Given the description of an element on the screen output the (x, y) to click on. 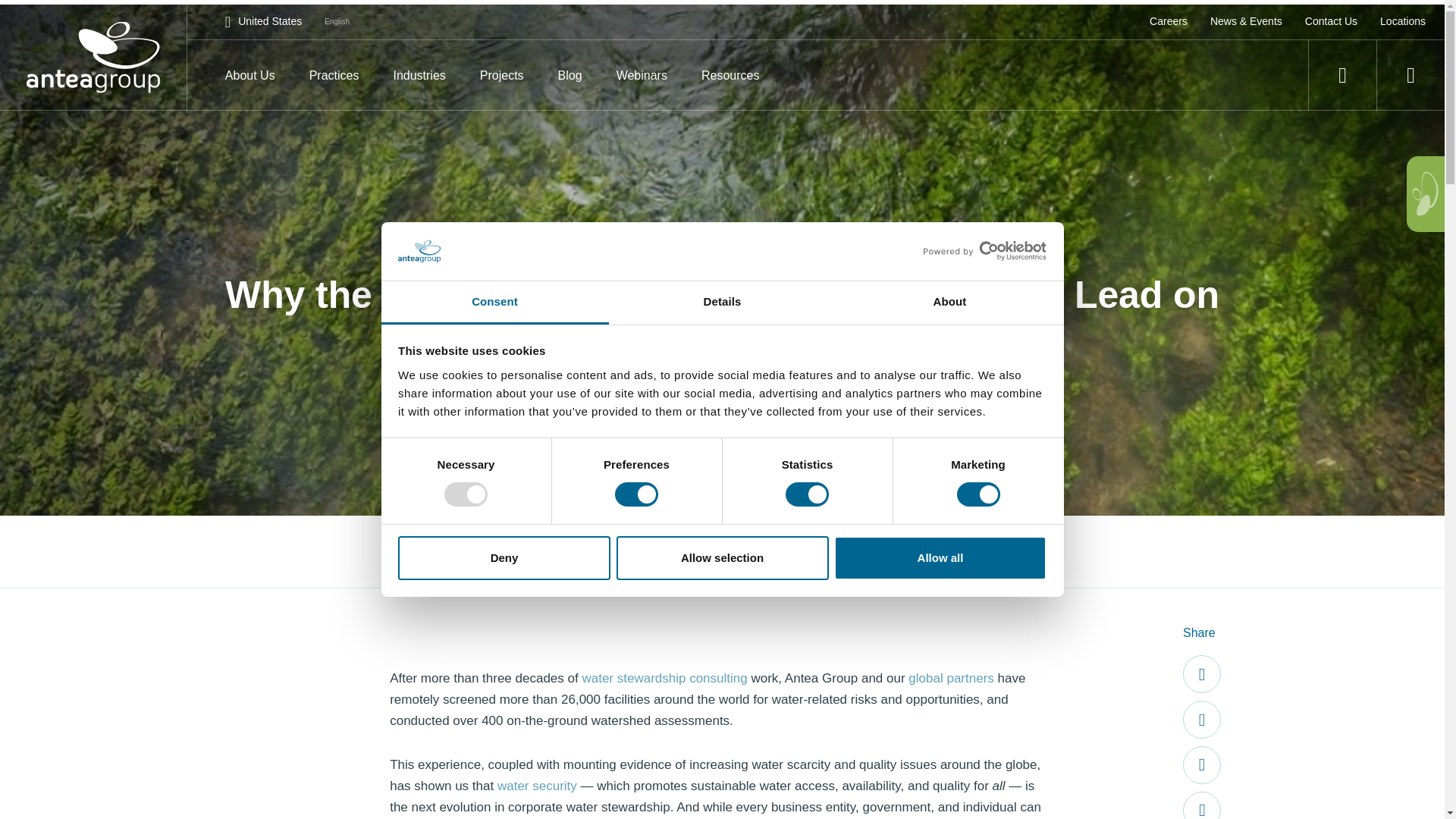
Consent (494, 302)
Details (721, 302)
About (948, 302)
